Given the description of an element on the screen output the (x, y) to click on. 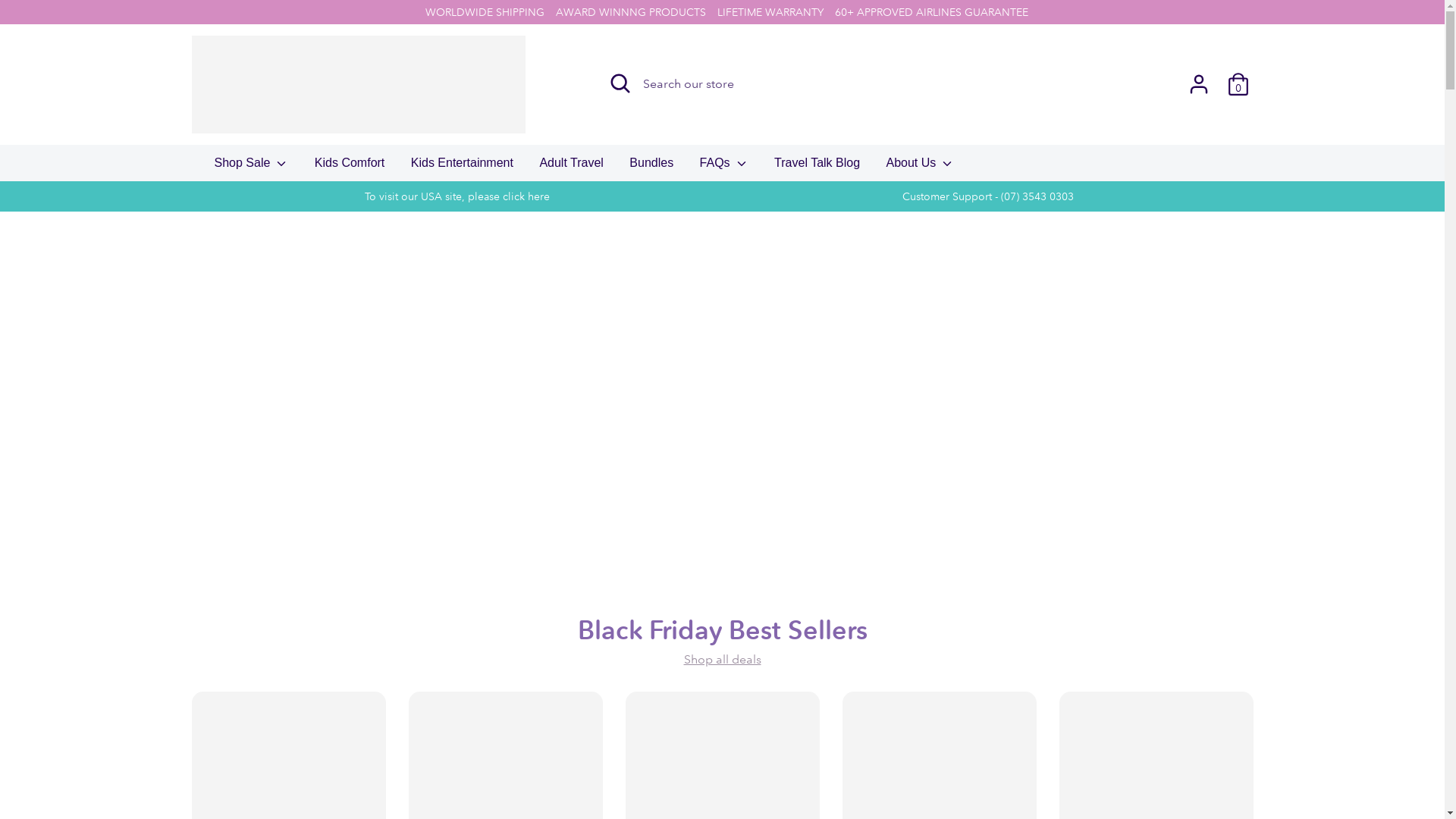
FAQs Element type: text (723, 167)
About Us Element type: text (920, 167)
Adult Travel Element type: text (570, 167)
Travel Talk Blog Element type: text (816, 167)
0 Element type: text (1237, 84)
Shop all deals Element type: text (722, 659)
To visit our USA site, please click here Element type: text (456, 196)
Shop Sale Element type: text (251, 167)
Kids Comfort Element type: text (349, 167)
Kids Entertainment Element type: text (461, 167)
Bundles Element type: text (651, 167)
